Given the description of an element on the screen output the (x, y) to click on. 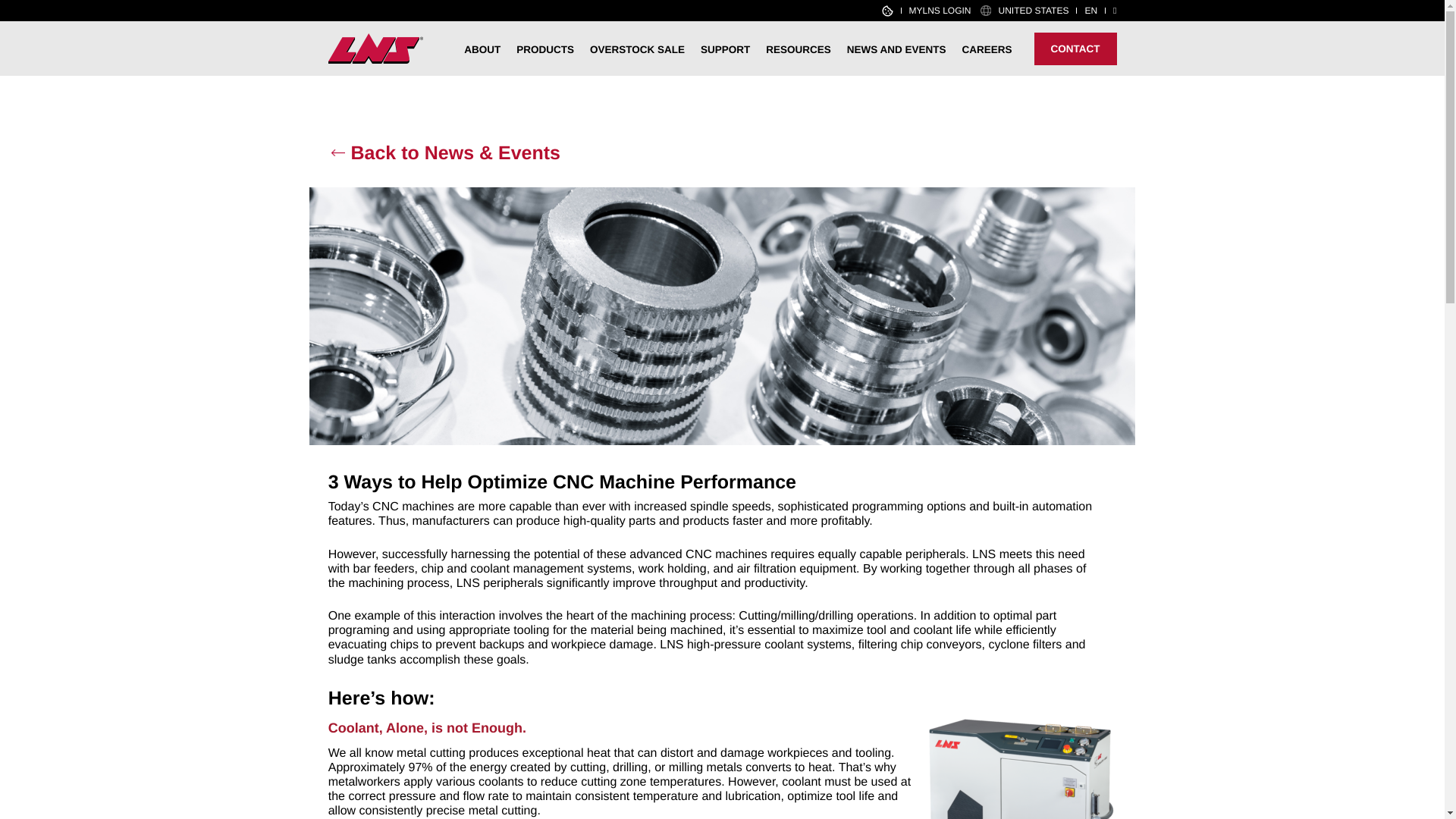
MYLNS LOGIN (939, 9)
EN (1090, 9)
UNITED STATES (1033, 9)
ABOUT (482, 51)
PRODUCTS (545, 51)
